Given the description of an element on the screen output the (x, y) to click on. 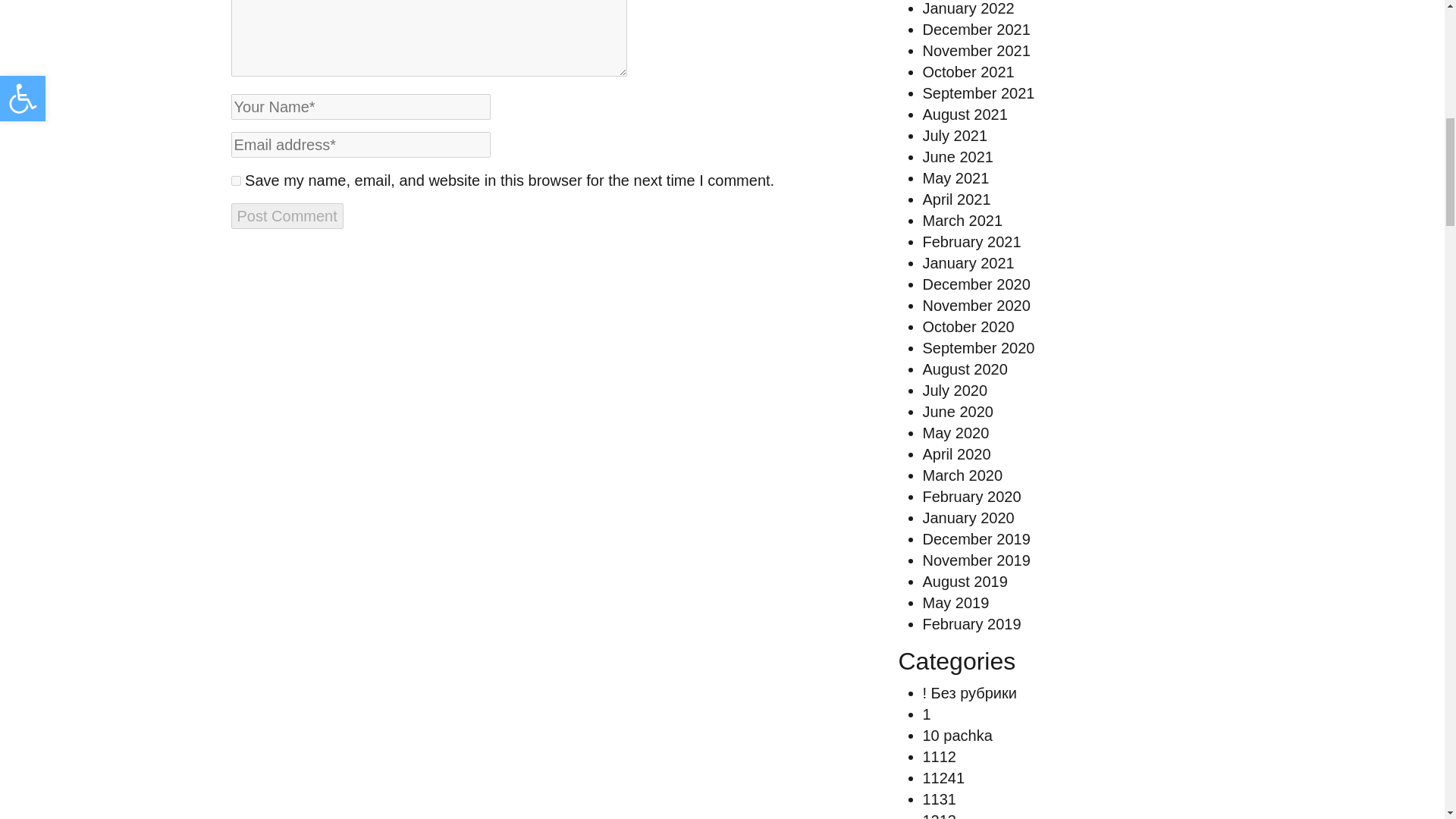
Post Comment (286, 216)
Post Comment (286, 216)
yes (235, 180)
